Given the description of an element on the screen output the (x, y) to click on. 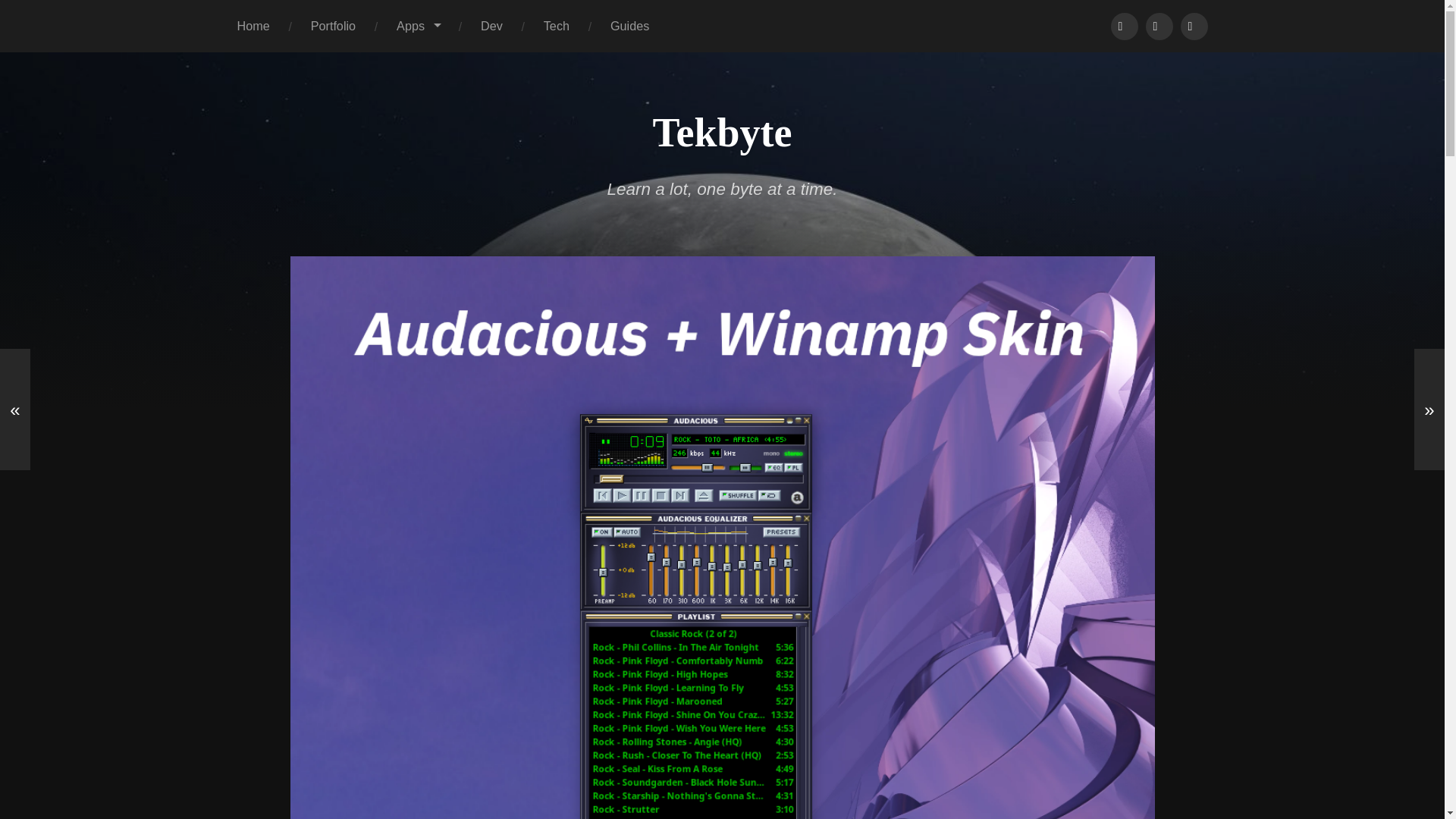
GitHub (1123, 25)
Apps (1193, 25)
Twitter (1158, 25)
Home (252, 26)
Dev (491, 26)
Portfolio (332, 26)
Tech (555, 26)
Tekbyte (722, 132)
Guides (629, 26)
Apps (417, 26)
